Given the description of an element on the screen output the (x, y) to click on. 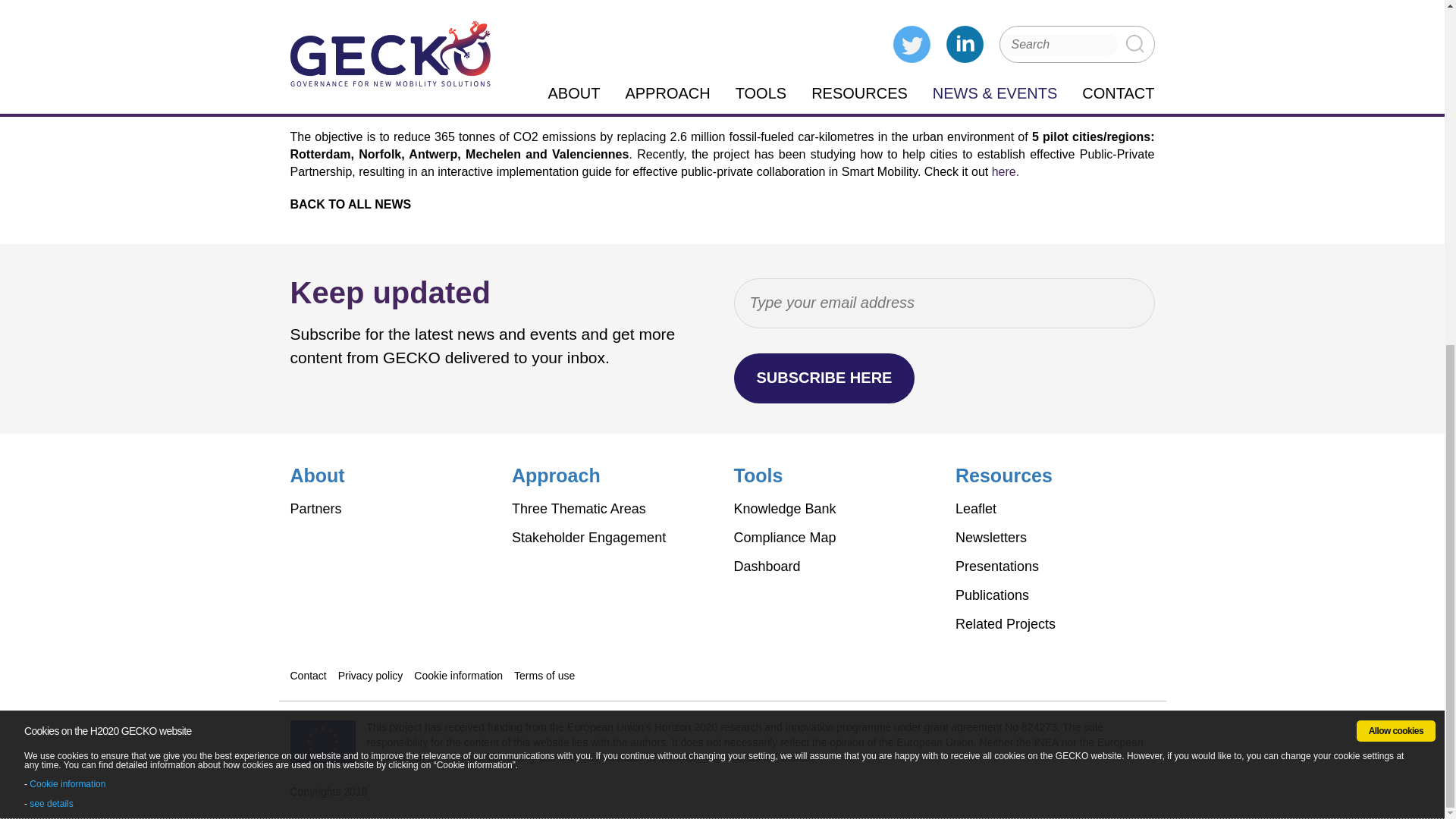
Cookie information (66, 194)
Subscribe here (824, 377)
see details (50, 213)
Allow cookies (1395, 140)
